Given the description of an element on the screen output the (x, y) to click on. 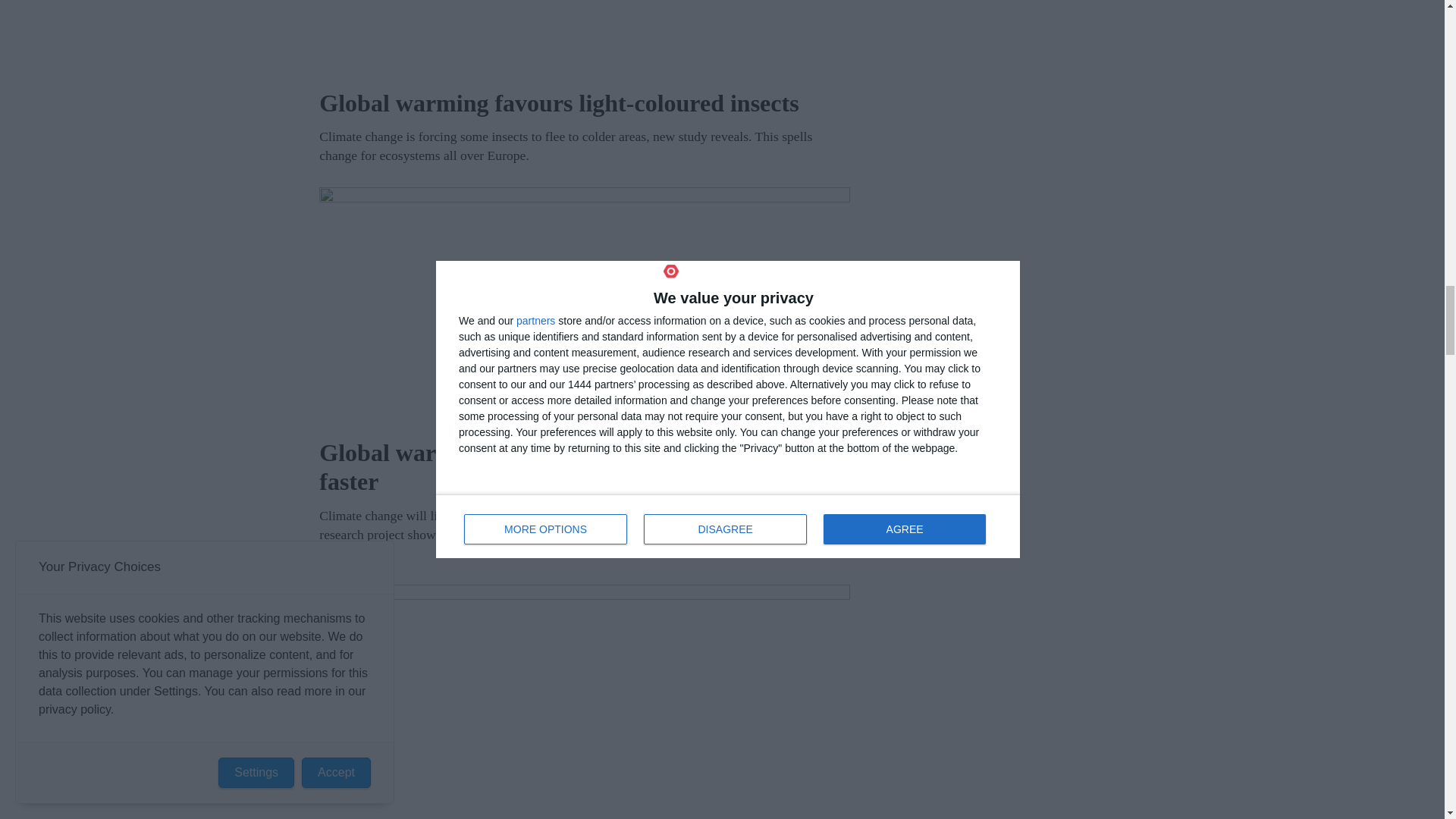
Global warming won't make plants grow any faster (584, 306)
Global warming favours light-coloured insects (584, 38)
Less global warming is attainable (584, 701)
